Given the description of an element on the screen output the (x, y) to click on. 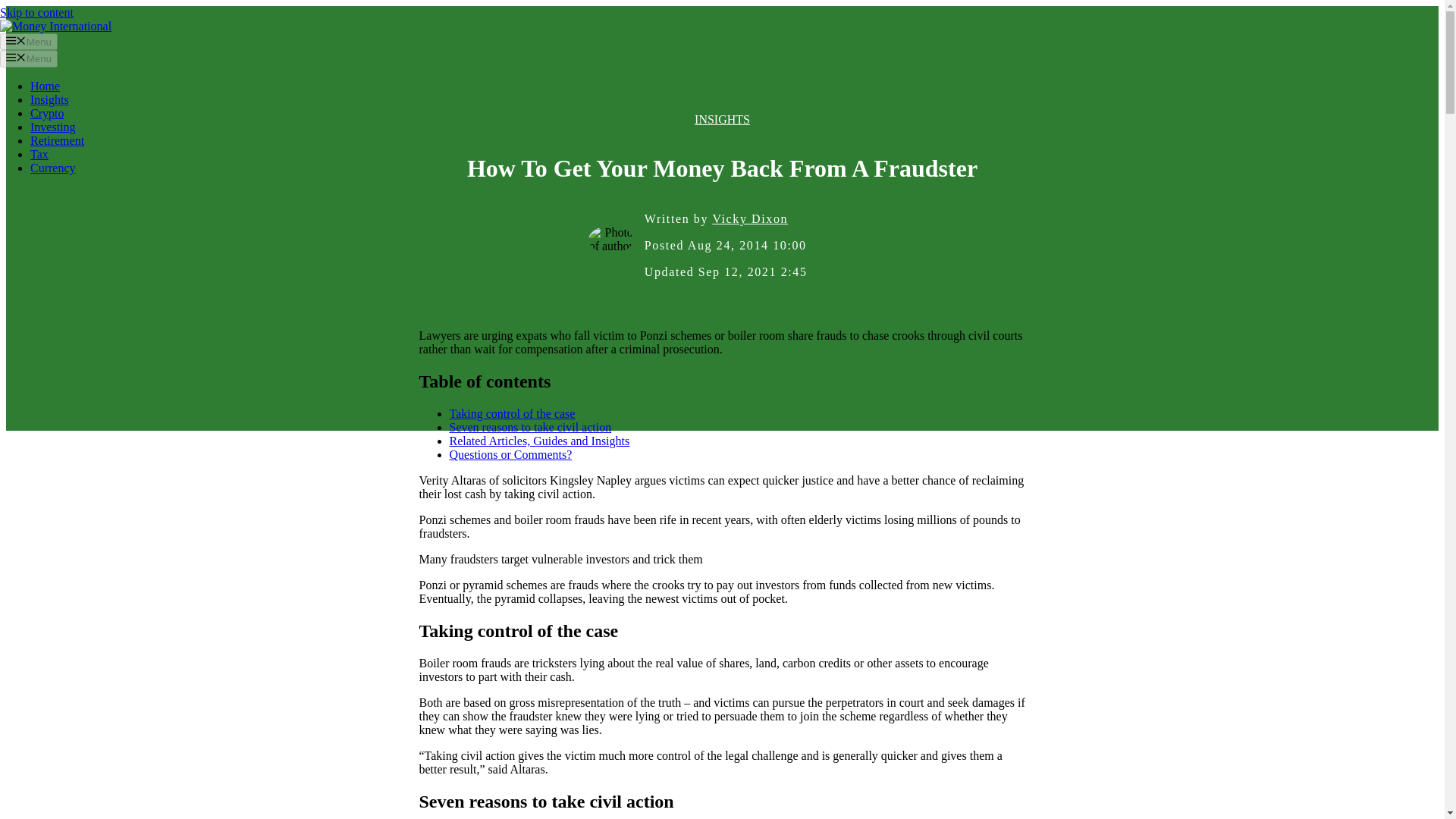
Currency (52, 167)
Tax (39, 154)
INSIGHTS (721, 119)
Skip to content (37, 11)
Seven reasons to take civil action (529, 427)
Taking control of the case (511, 413)
Crypto (47, 113)
Retirement (57, 140)
Menu (29, 41)
Insights (49, 99)
